Given the description of an element on the screen output the (x, y) to click on. 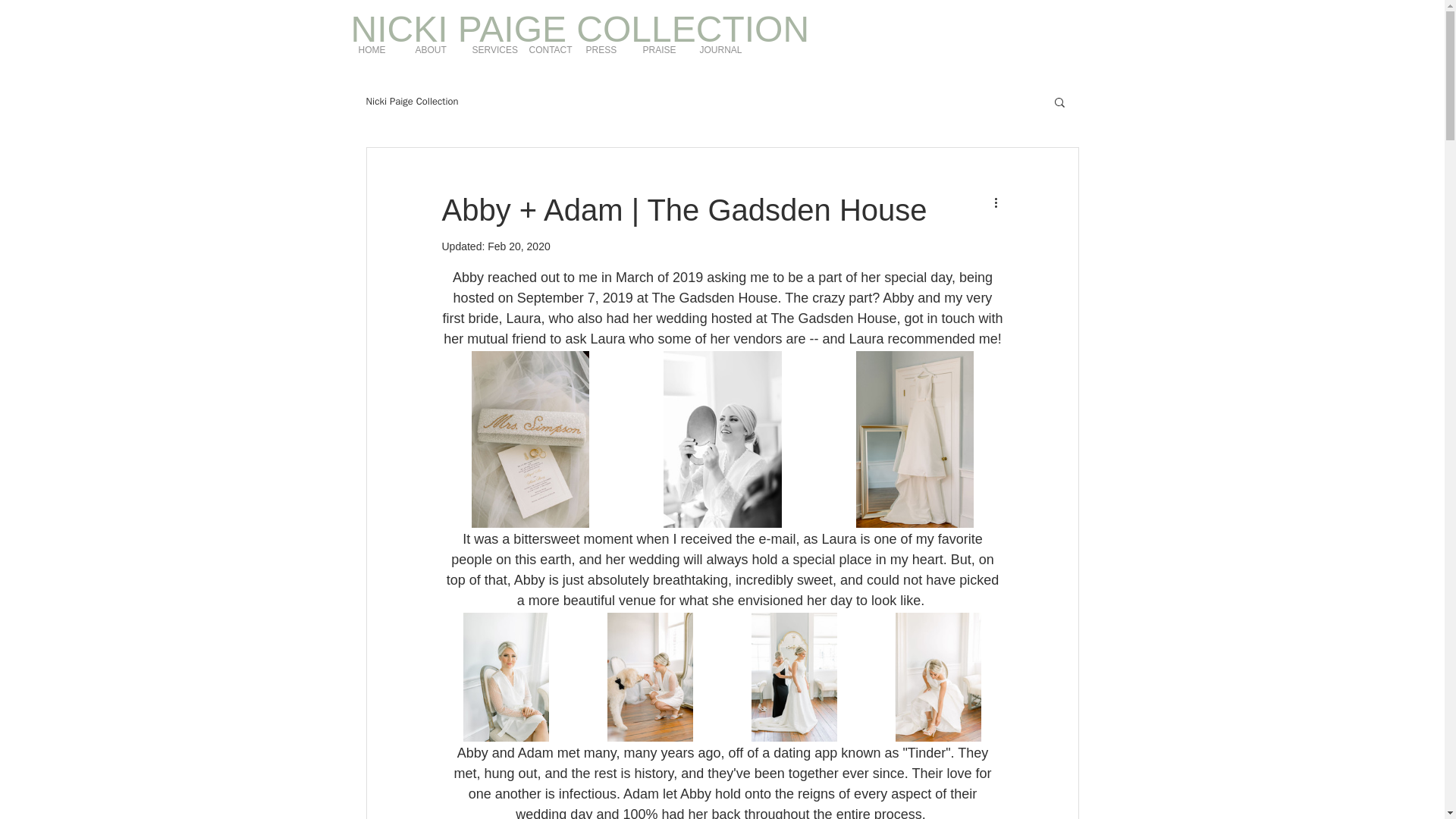
NICKI PAIGE COLLECTION (579, 29)
SERVICES (492, 49)
HOME (378, 49)
JOURNAL (719, 49)
PRESS (606, 49)
Feb 20, 2020 (518, 246)
ABOUT (435, 49)
Nicki Paige Collection (411, 101)
PRAISE (663, 49)
CONTACT (549, 49)
